Given the description of an element on the screen output the (x, y) to click on. 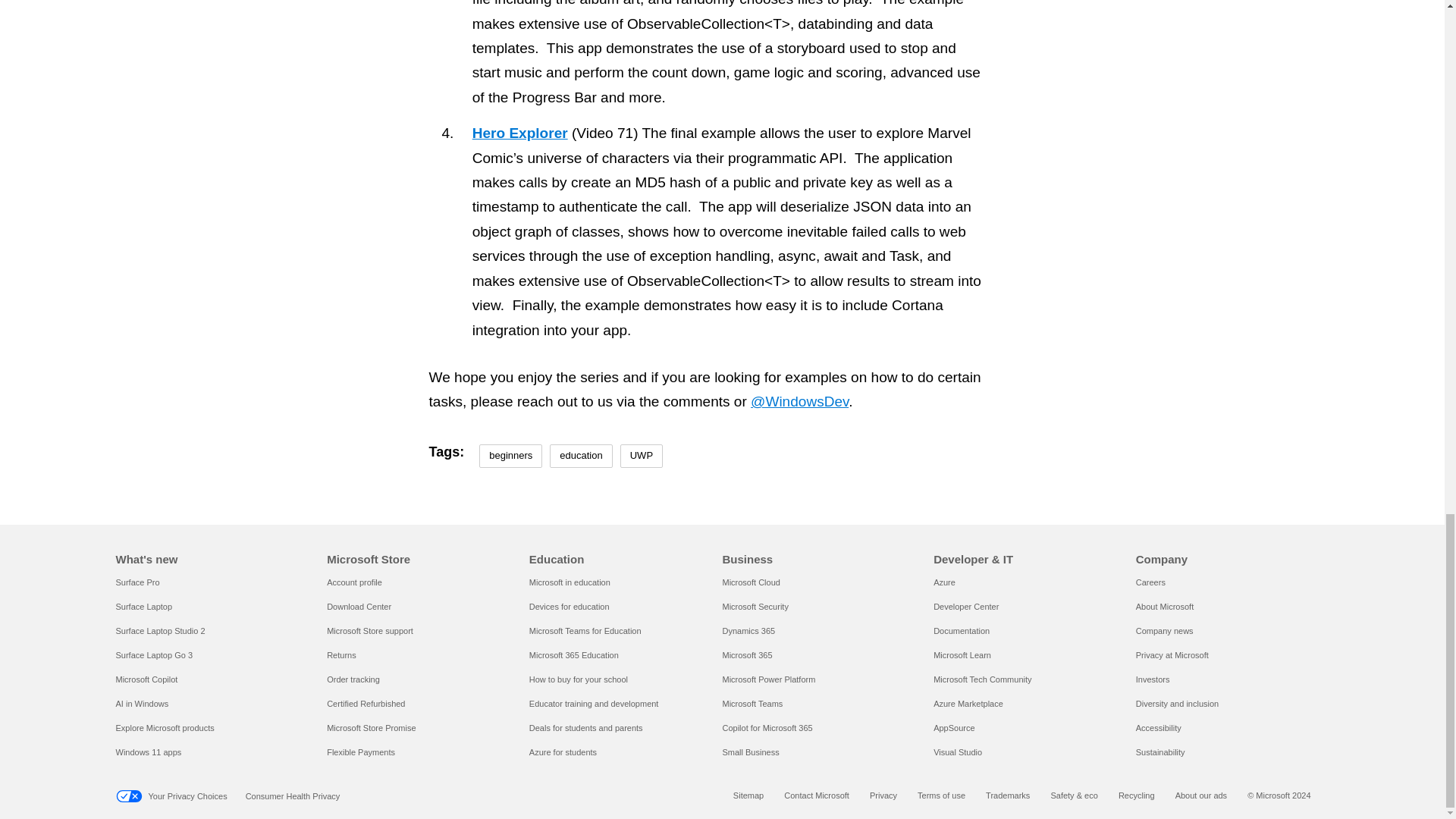
education Tag (580, 455)
UWP Tag (641, 455)
beginners Tag (510, 455)
